Given the description of an element on the screen output the (x, y) to click on. 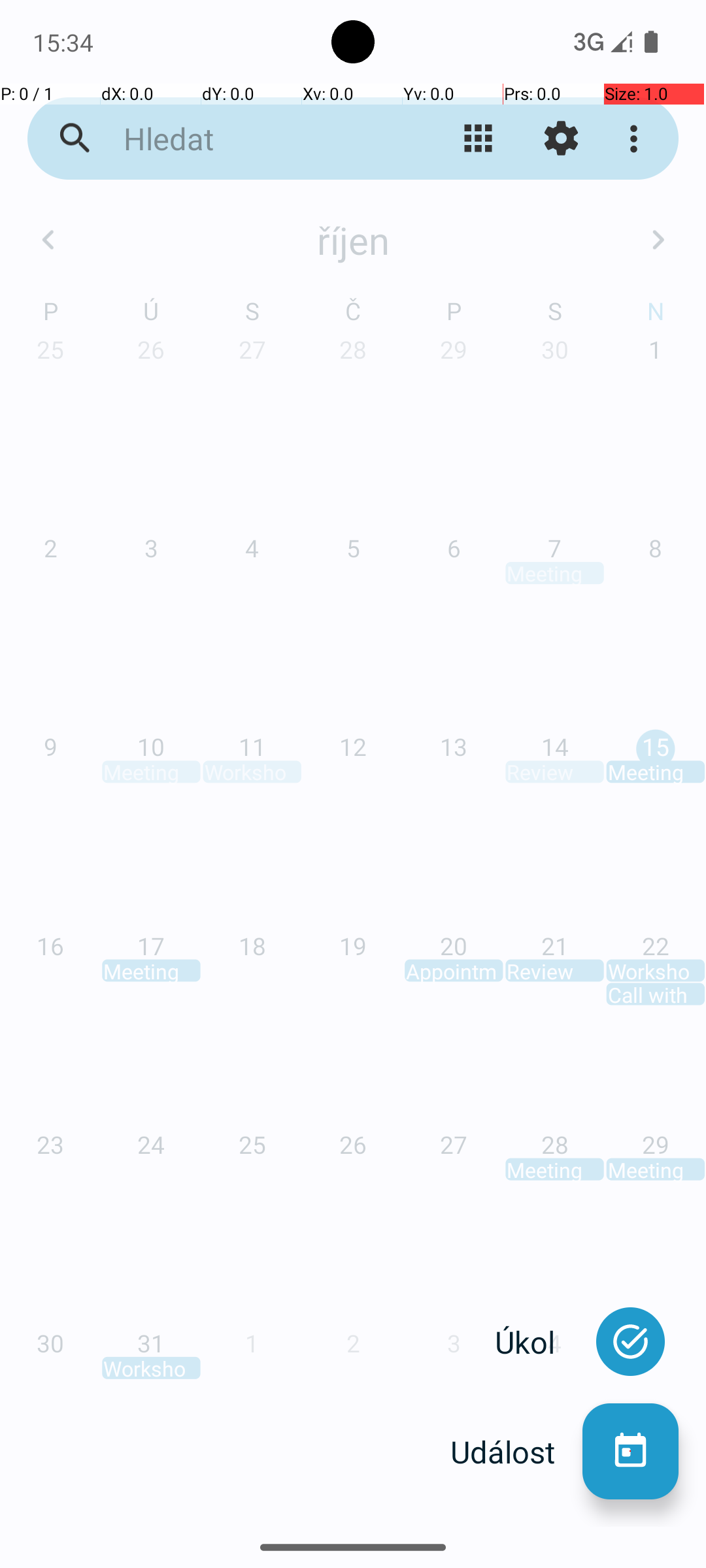
Hledat Element type: android.widget.EditText (252, 138)
Změnit zobrazení Element type: android.widget.Button (477, 138)
Nastavení Element type: android.widget.Button (560, 138)
Další možnosti Element type: android.widget.ImageView (636, 138)
Úkol Element type: android.widget.TextView (538, 1341)
Událost Element type: android.widget.TextView (516, 1451)
Nová událost Element type: android.widget.ImageButton (630, 1451)
říjen Element type: android.widget.TextView (352, 239)
